Given the description of an element on the screen output the (x, y) to click on. 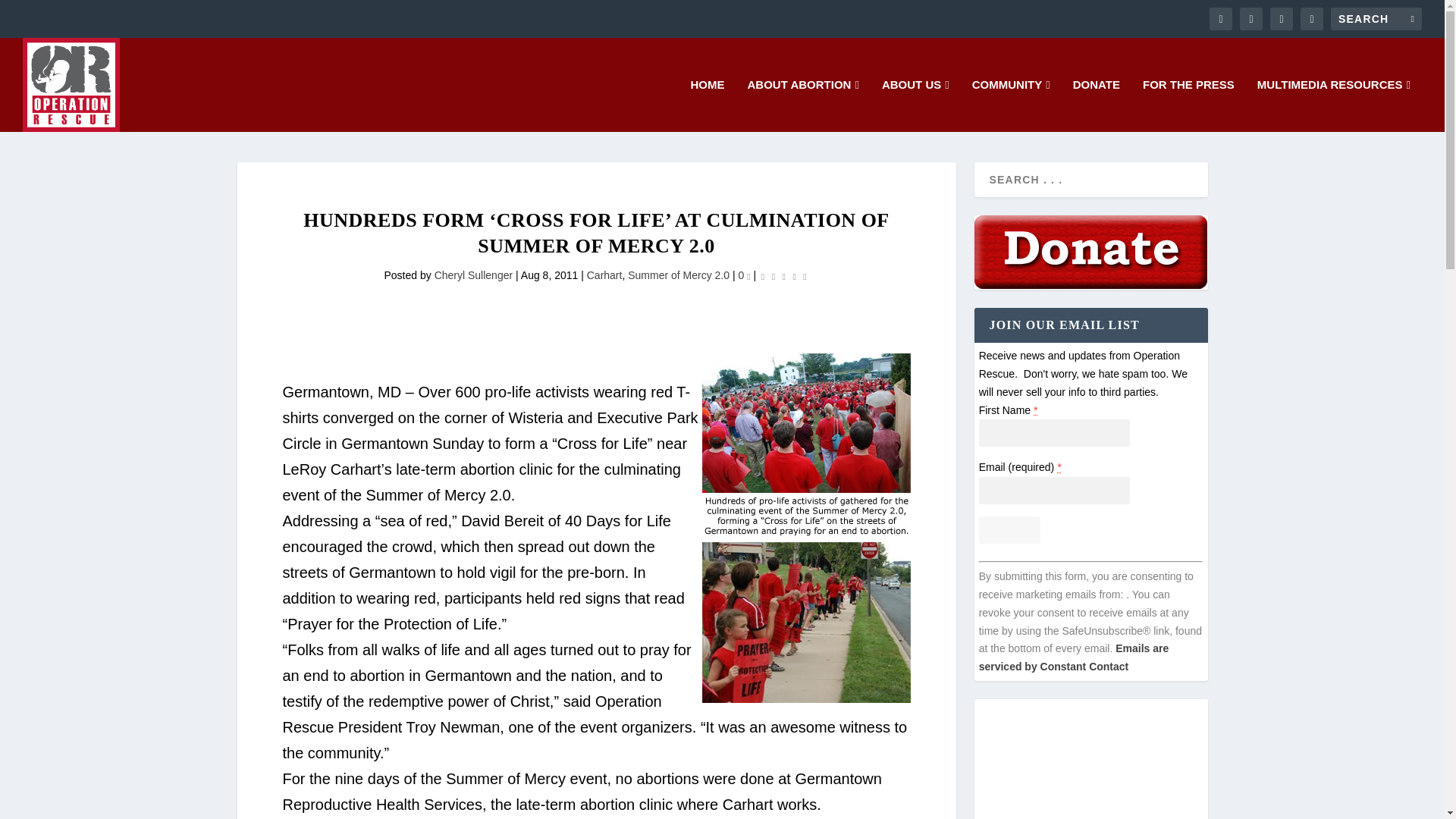
Sign up (1009, 529)
ABOUT ABORTION (803, 105)
Search for: (1376, 18)
FOR THE PRESS (1188, 105)
About Abortion (803, 105)
COMMUNITY (1010, 105)
MULTIMEDIA RESOURCES (1333, 105)
ABOUT US (915, 105)
